Given the description of an element on the screen output the (x, y) to click on. 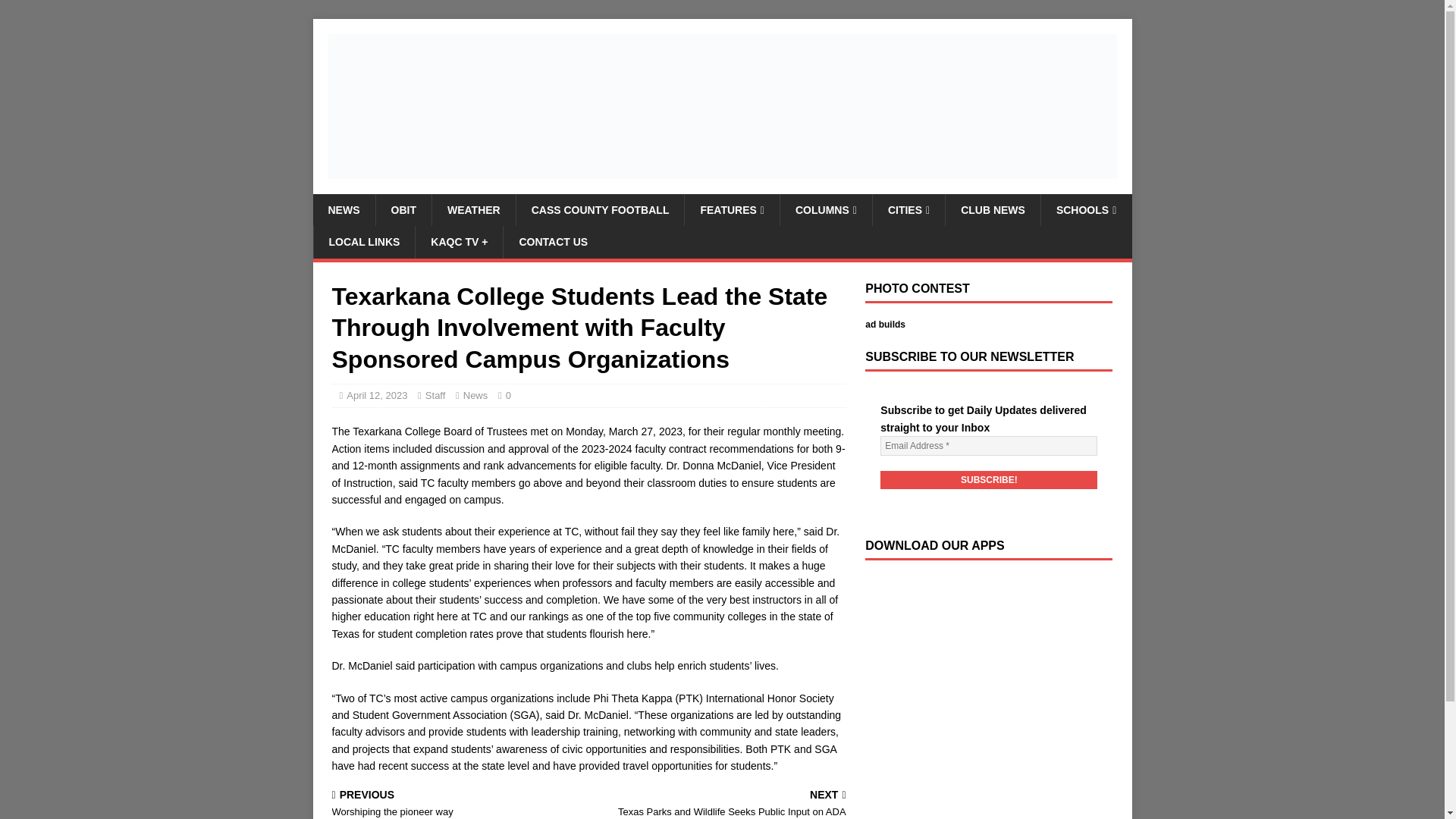
CONTACT US (552, 241)
News (475, 395)
CASS COUNTY FOOTBALL (599, 210)
WEATHER (472, 210)
SCHOOLS (1086, 210)
Staff (435, 395)
OBIT (402, 210)
CLUB NEWS (992, 210)
FEATURES (731, 210)
Email Address (988, 445)
Subscribe! (457, 804)
COLUMNS (988, 479)
LOCAL LINKS (825, 210)
April 12, 2023 (363, 241)
